Given the description of an element on the screen output the (x, y) to click on. 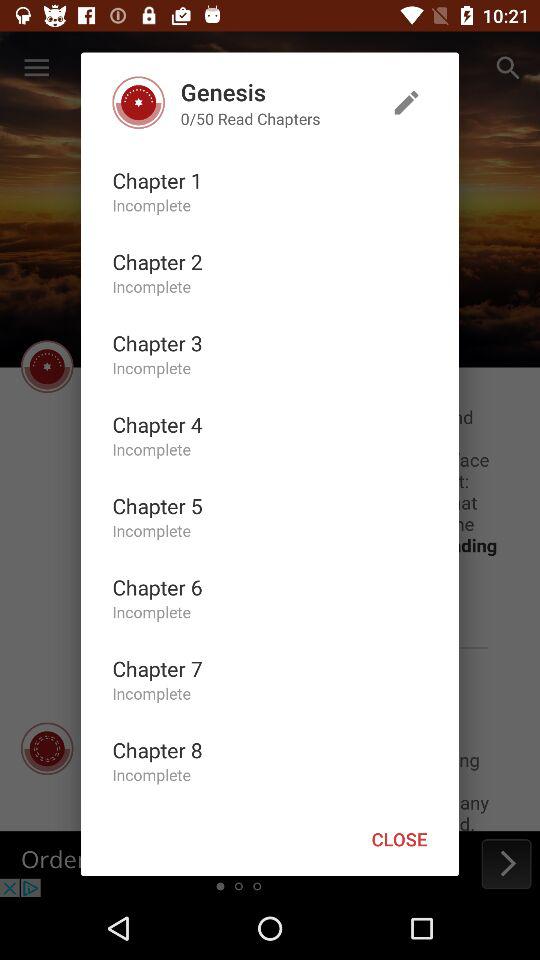
jump until chapter 6 item (157, 587)
